Given the description of an element on the screen output the (x, y) to click on. 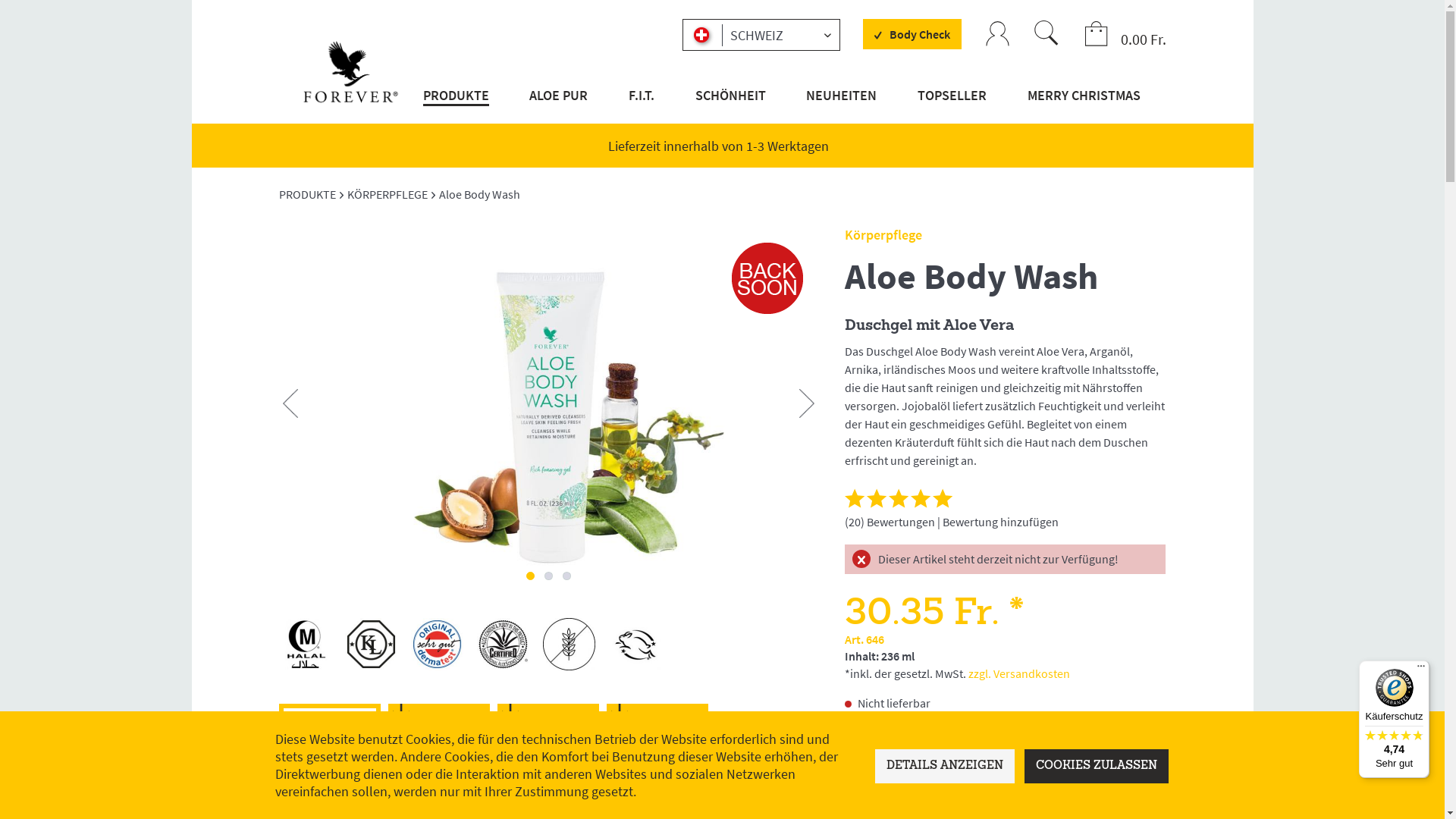
COOKIES ZULASSEN Element type: text (1096, 766)
F.I.T. Element type: text (641, 104)
Aloe Body Wash Element type: text (480, 194)
NEUHEITEN Element type: text (841, 104)
Body Check Element type: text (911, 33)
zzgl. Versandkosten Element type: text (1019, 672)
Warenkorb Element type: hover (1095, 34)
  Element type: text (548, 575)
DETAILS ANZEIGEN Element type: text (944, 766)
TOPSELLER Element type: text (951, 104)
Deine Suche ... Element type: hover (1045, 33)
SCHWEIZ Element type: text (760, 34)
Mein Konto Element type: hover (997, 34)
PRODUKTE Element type: text (309, 194)
ALOE PUR Element type: text (558, 104)
  Element type: text (566, 575)
PRODUKTE Element type: text (457, 104)
  Element type: text (530, 575)
MERRY CHRISTMAS Element type: text (1081, 104)
